Given the description of an element on the screen output the (x, y) to click on. 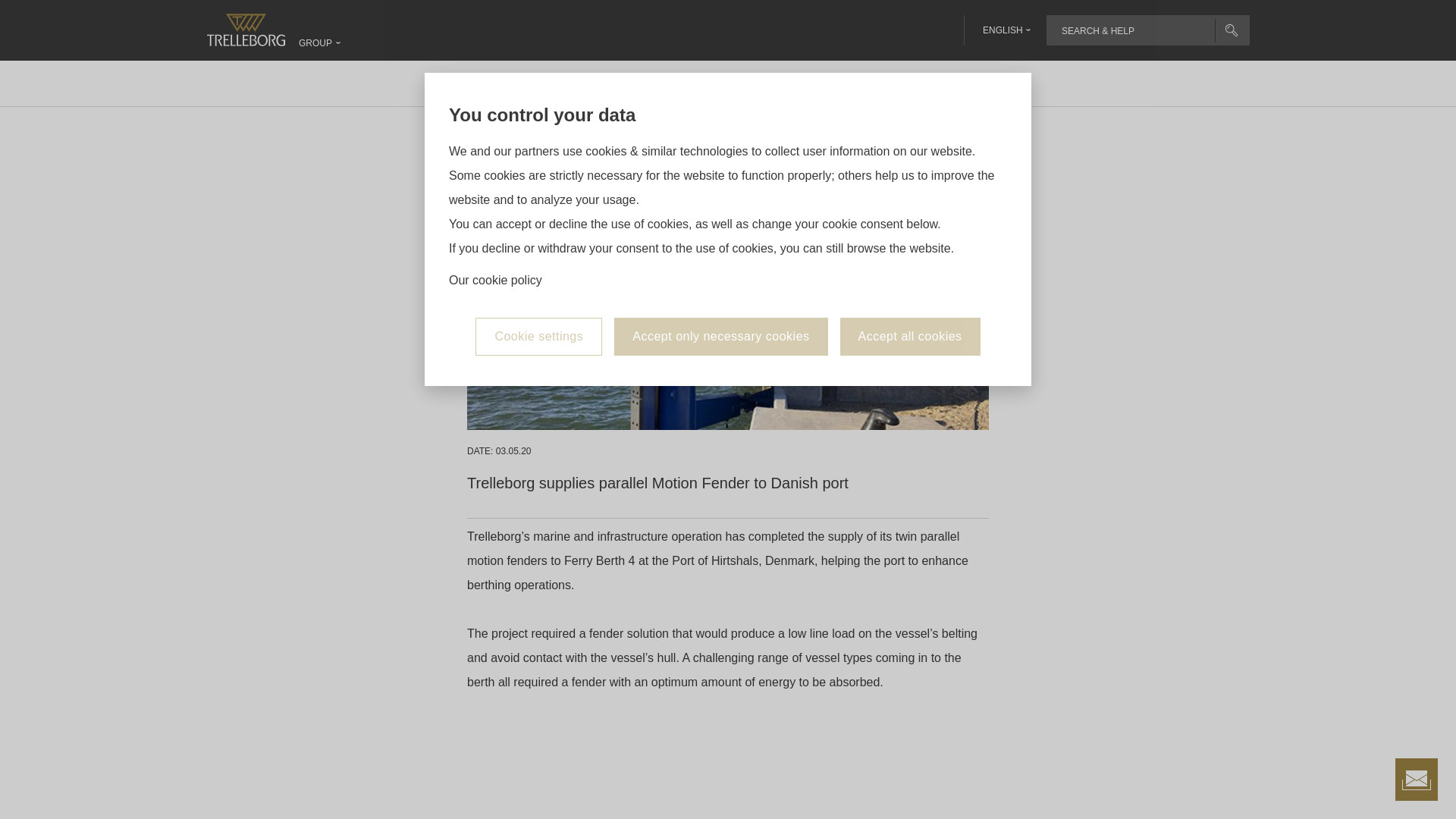
Accept all cookies (909, 230)
Accept only necessary cookies (720, 230)
Our cookie policy (494, 174)
Cookie settings (539, 230)
